Given the description of an element on the screen output the (x, y) to click on. 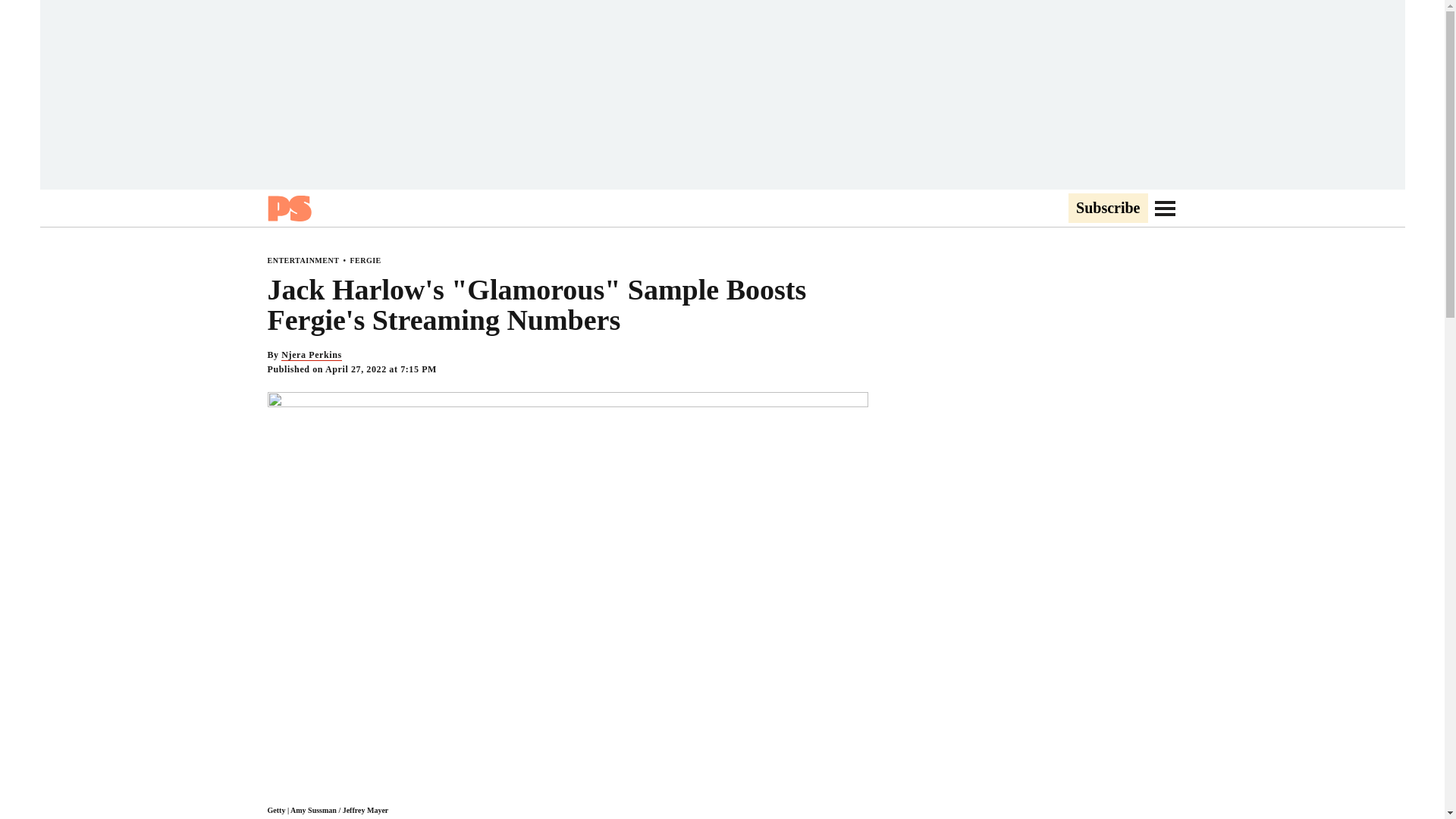
ENTERTAINMENT (302, 260)
Go to Navigation (1164, 207)
Njera Perkins (310, 355)
Go to Navigation (1164, 207)
Subscribe (1107, 208)
Popsugar (288, 208)
FERGIE (364, 260)
